Given the description of an element on the screen output the (x, y) to click on. 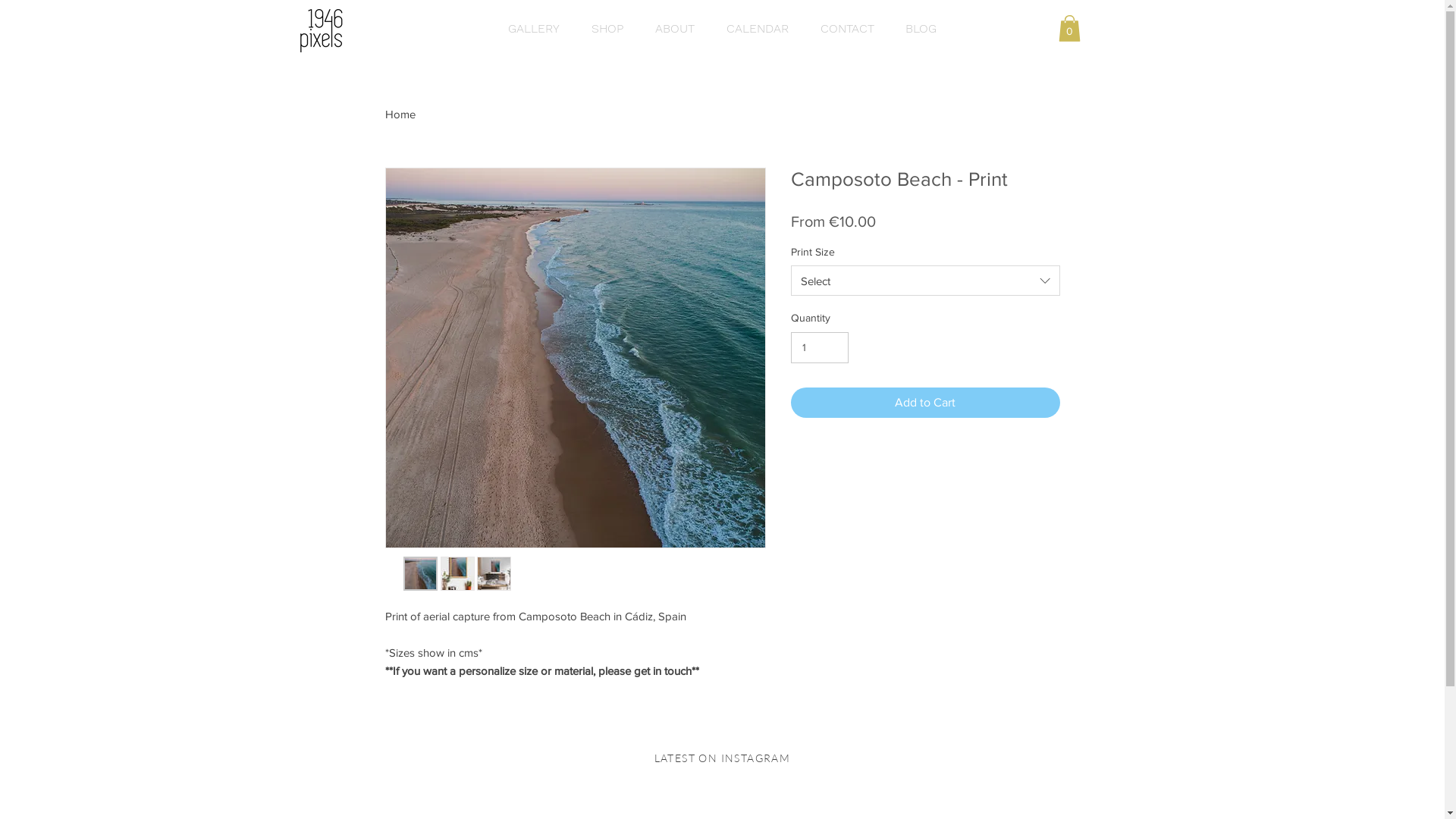
ABOUT Element type: text (673, 28)
CALENDAR Element type: text (756, 28)
Add to Cart Element type: text (924, 402)
0 Element type: text (1069, 28)
SHOP Element type: text (606, 28)
Home Element type: text (400, 113)
Select Element type: text (924, 280)
BLOG Element type: text (921, 28)
GALLERY Element type: text (532, 28)
CONTACT Element type: text (846, 28)
